Given the description of an element on the screen output the (x, y) to click on. 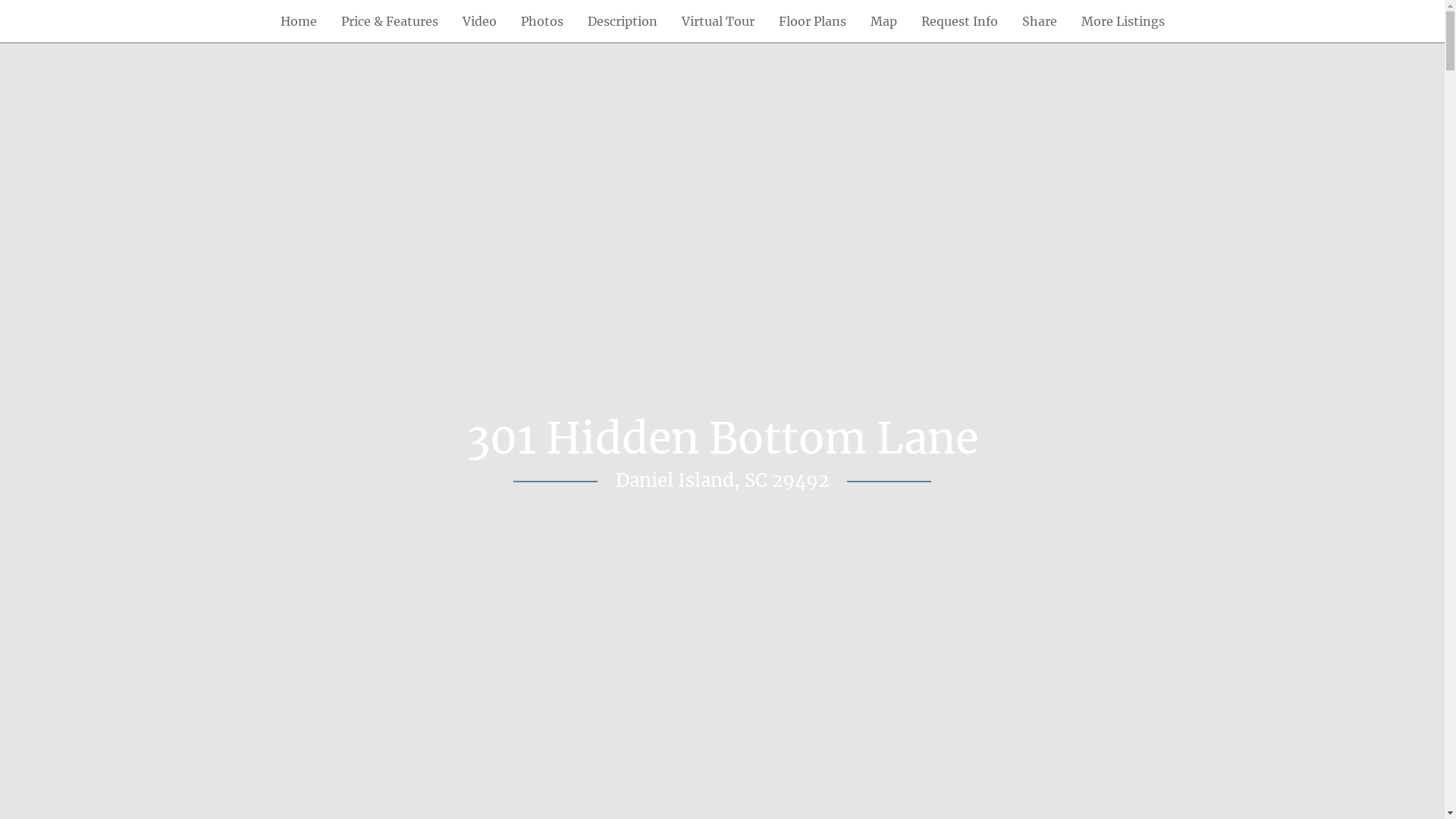
Price & Features Element type: text (389, 21)
Request Info Element type: text (958, 21)
Map Element type: text (883, 21)
Virtual Tour Element type: text (716, 21)
More Listings Element type: text (1122, 21)
Share Element type: text (1039, 21)
Floor Plans Element type: text (811, 21)
Description Element type: text (621, 21)
Photos Element type: text (541, 21)
Home Element type: text (298, 21)
Video Element type: text (479, 21)
